Given the description of an element on the screen output the (x, y) to click on. 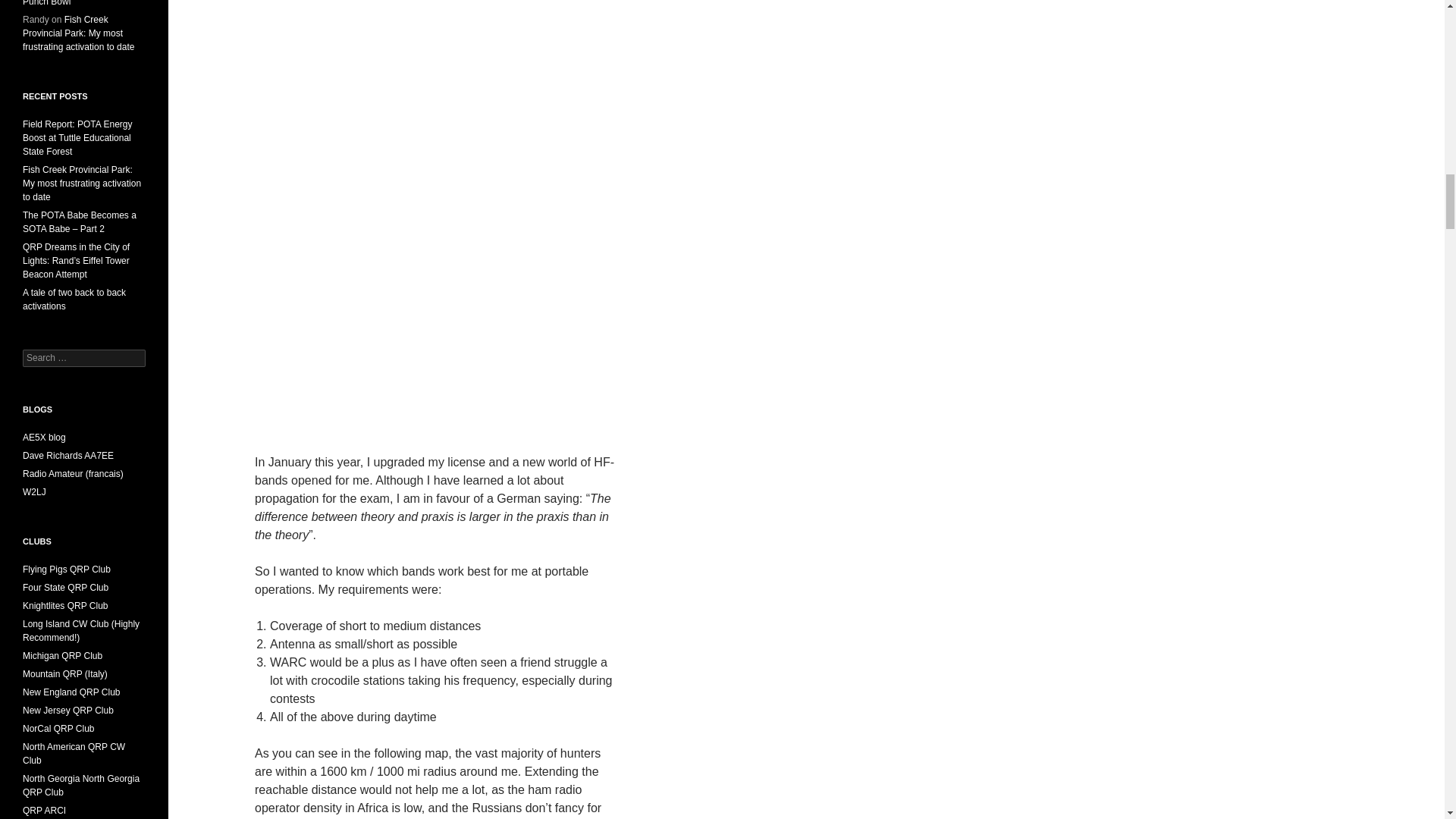
The New Jersey QRP Club website (68, 710)
The 4 State QRP Club (65, 587)
